Given the description of an element on the screen output the (x, y) to click on. 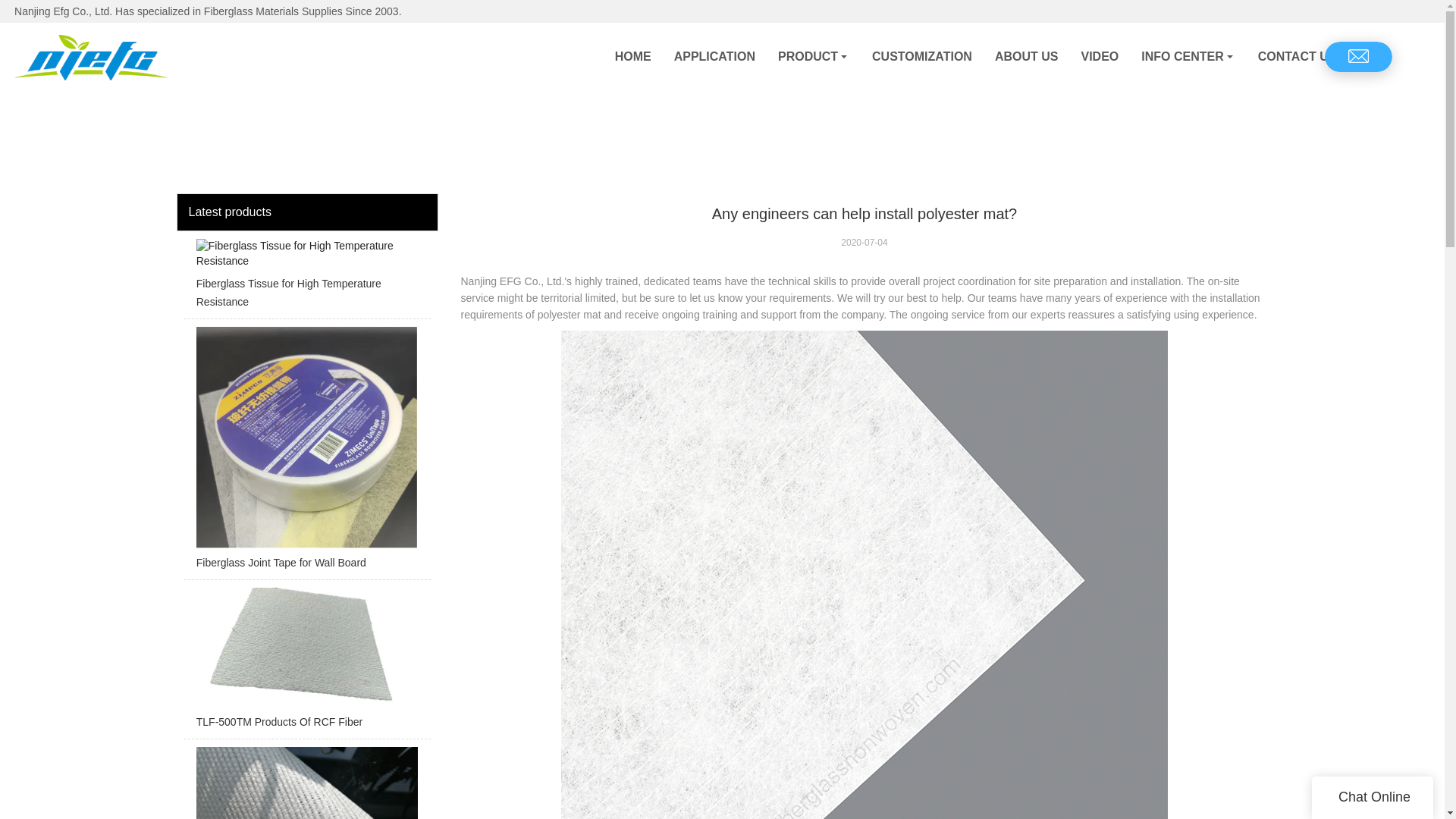
INFO CENTER (1187, 56)
CONTACT US (1297, 56)
Factory Price Texturized Fiberglass Matting Fabric Mat Cloth (306, 782)
Fiberglass Joint Tape for Wall Board (306, 452)
ABOUT US (1027, 56)
CUSTOMIZATION (922, 56)
Fiberglass Tissue for High Temperature Resistance (306, 278)
PRODUCT (813, 56)
APPLICATION (714, 56)
